Given the description of an element on the screen output the (x, y) to click on. 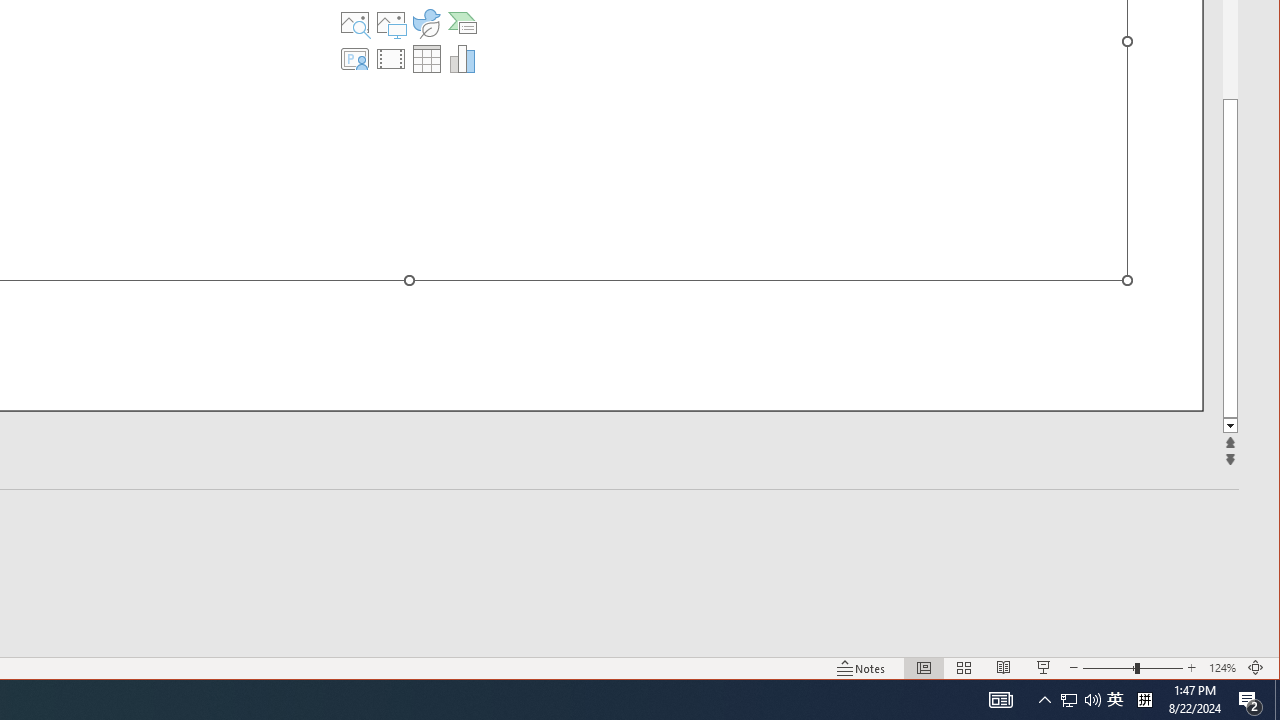
Stock Images (355, 22)
Insert Chart (462, 58)
